Given the description of an element on the screen output the (x, y) to click on. 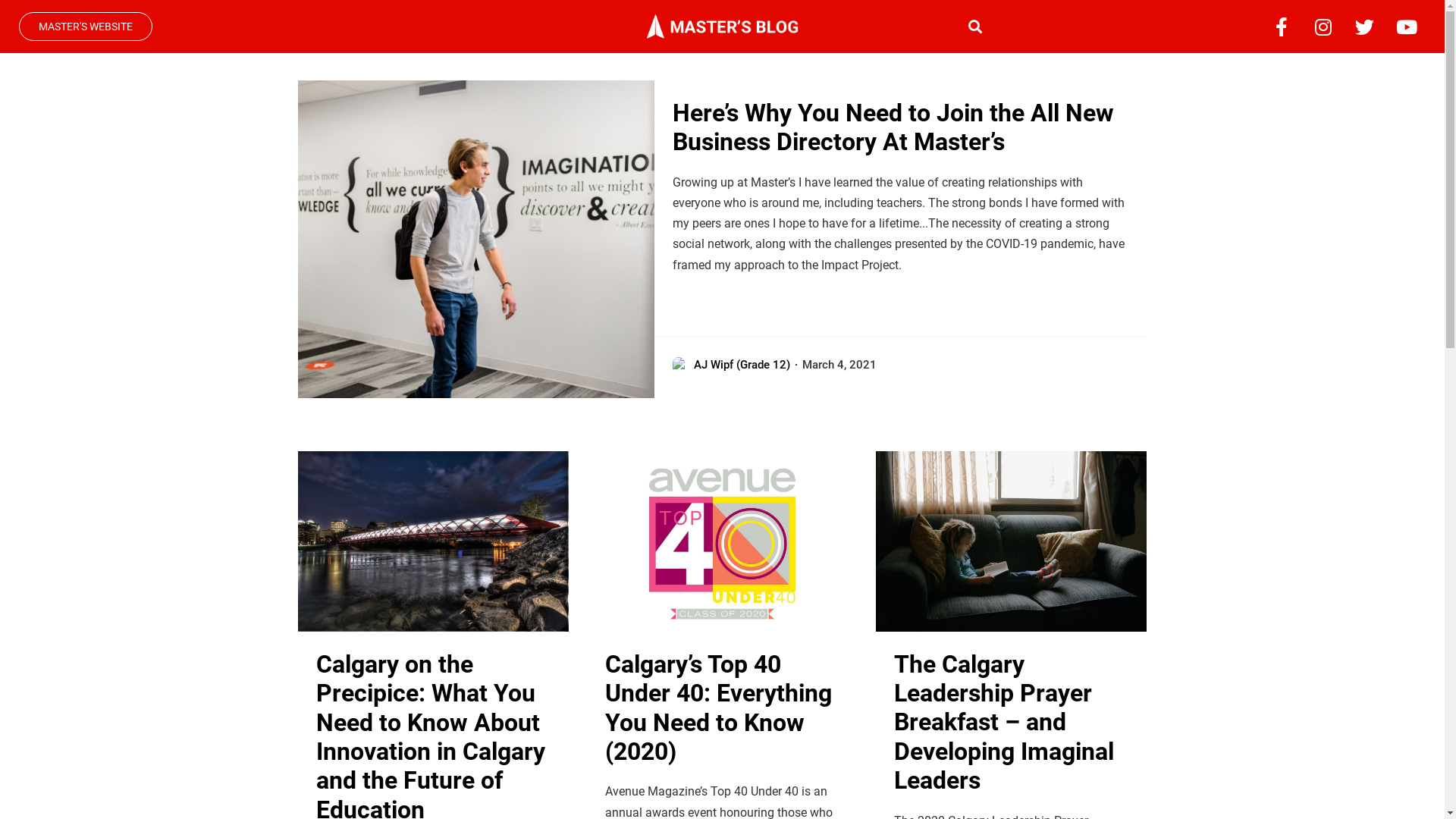
MASTER'S WEBSITE Element type: text (85, 26)
